Given the description of an element on the screen output the (x, y) to click on. 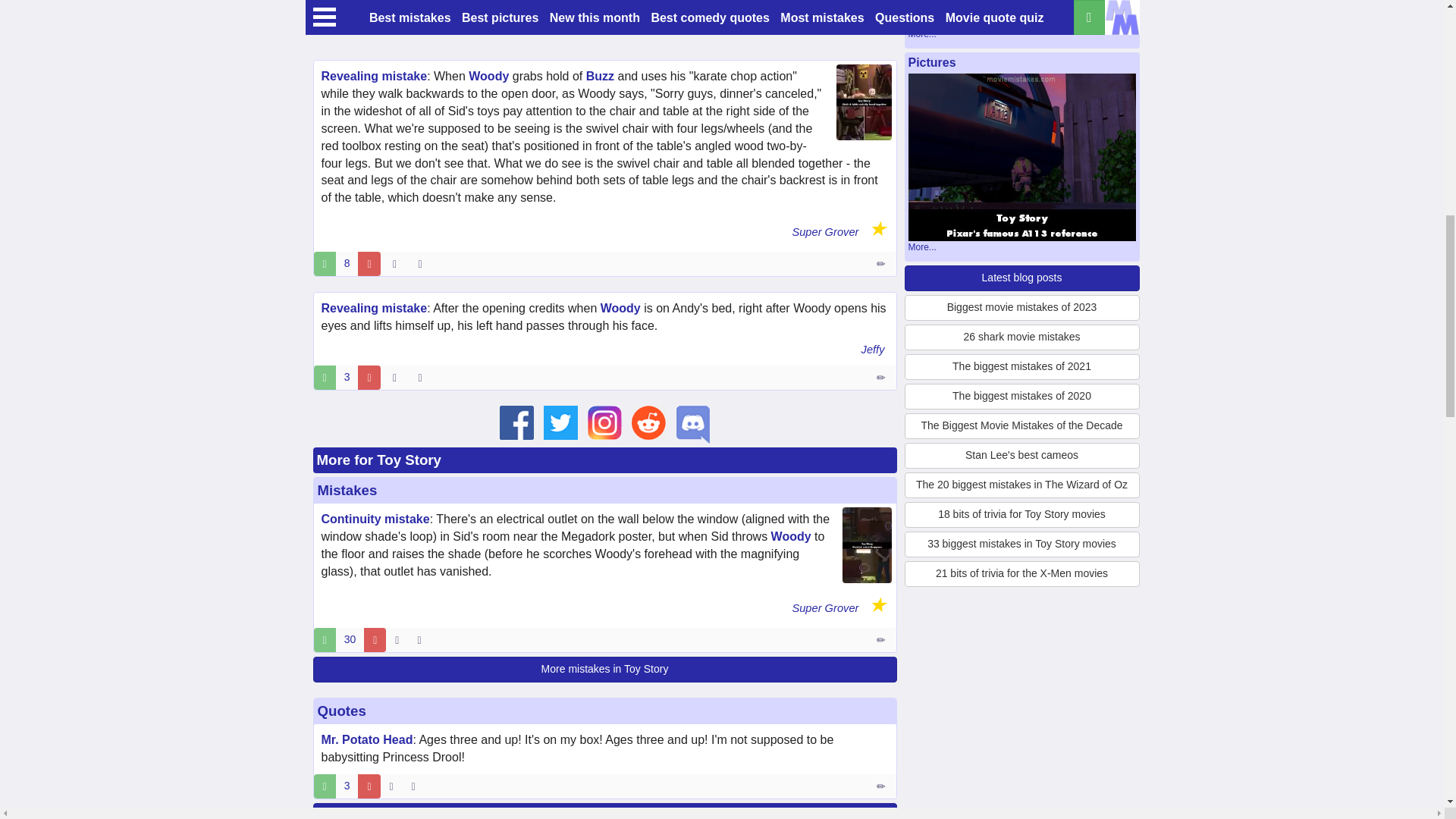
Entry 218242 (881, 263)
I like this (325, 377)
I like this (325, 263)
Share this entry (423, 263)
I dislike this (369, 263)
